Given the description of an element on the screen output the (x, y) to click on. 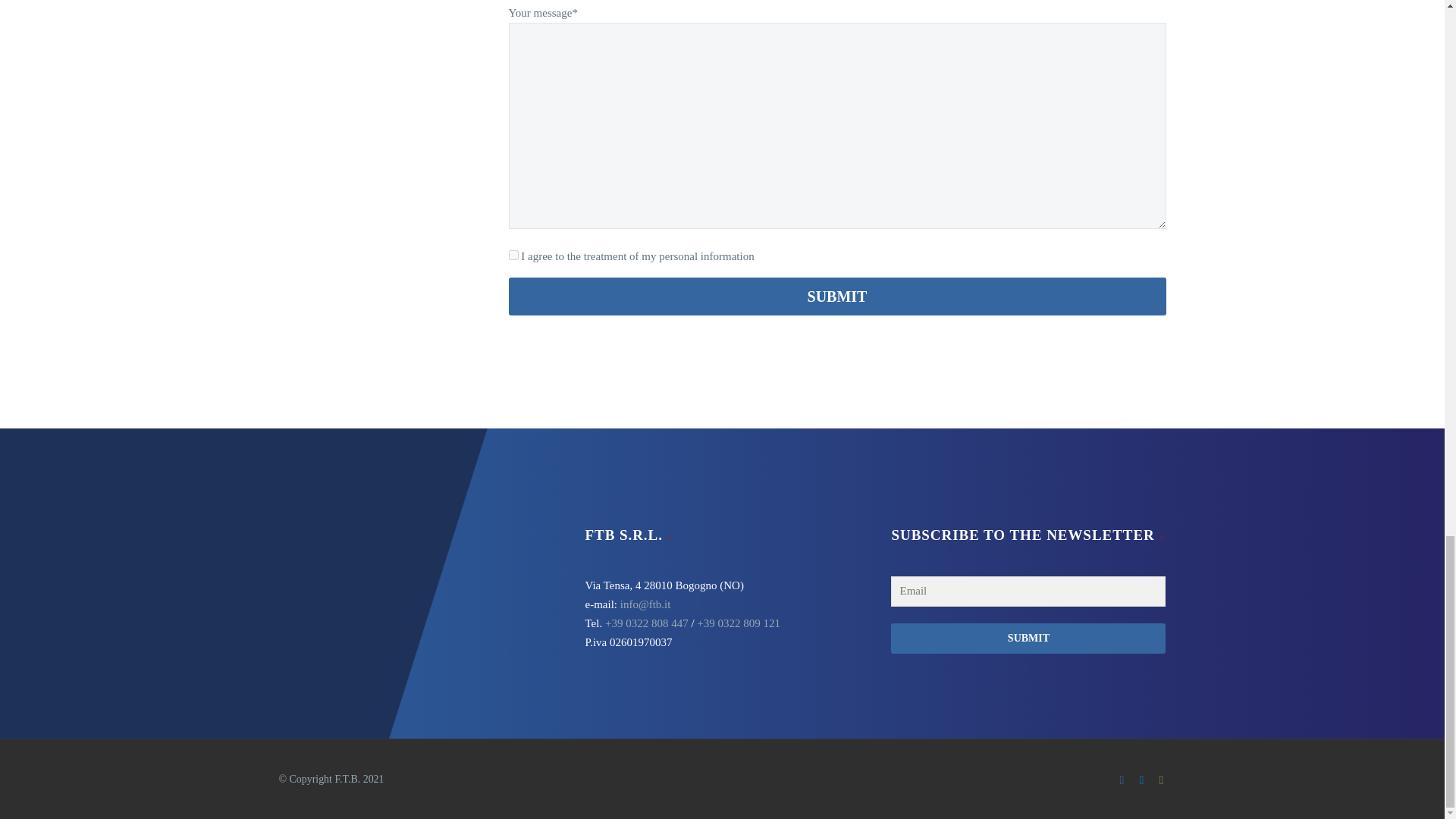
LinkedIn (1141, 779)
Instagram (1161, 779)
Submit (837, 296)
Facebook (1122, 779)
1 (513, 255)
Submit (837, 296)
